Given the description of an element on the screen output the (x, y) to click on. 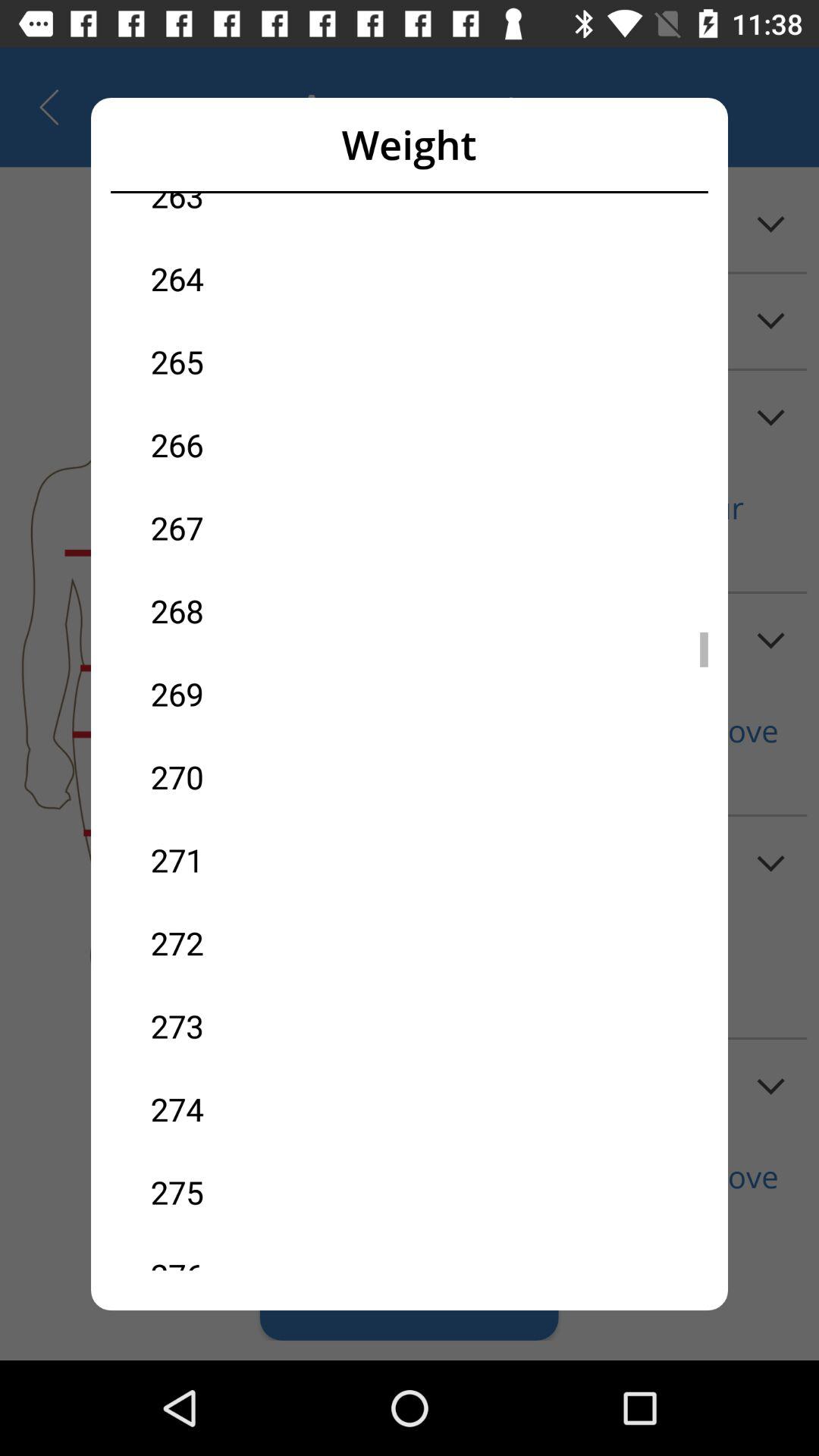
tap item below 266 item (279, 527)
